Given the description of an element on the screen output the (x, y) to click on. 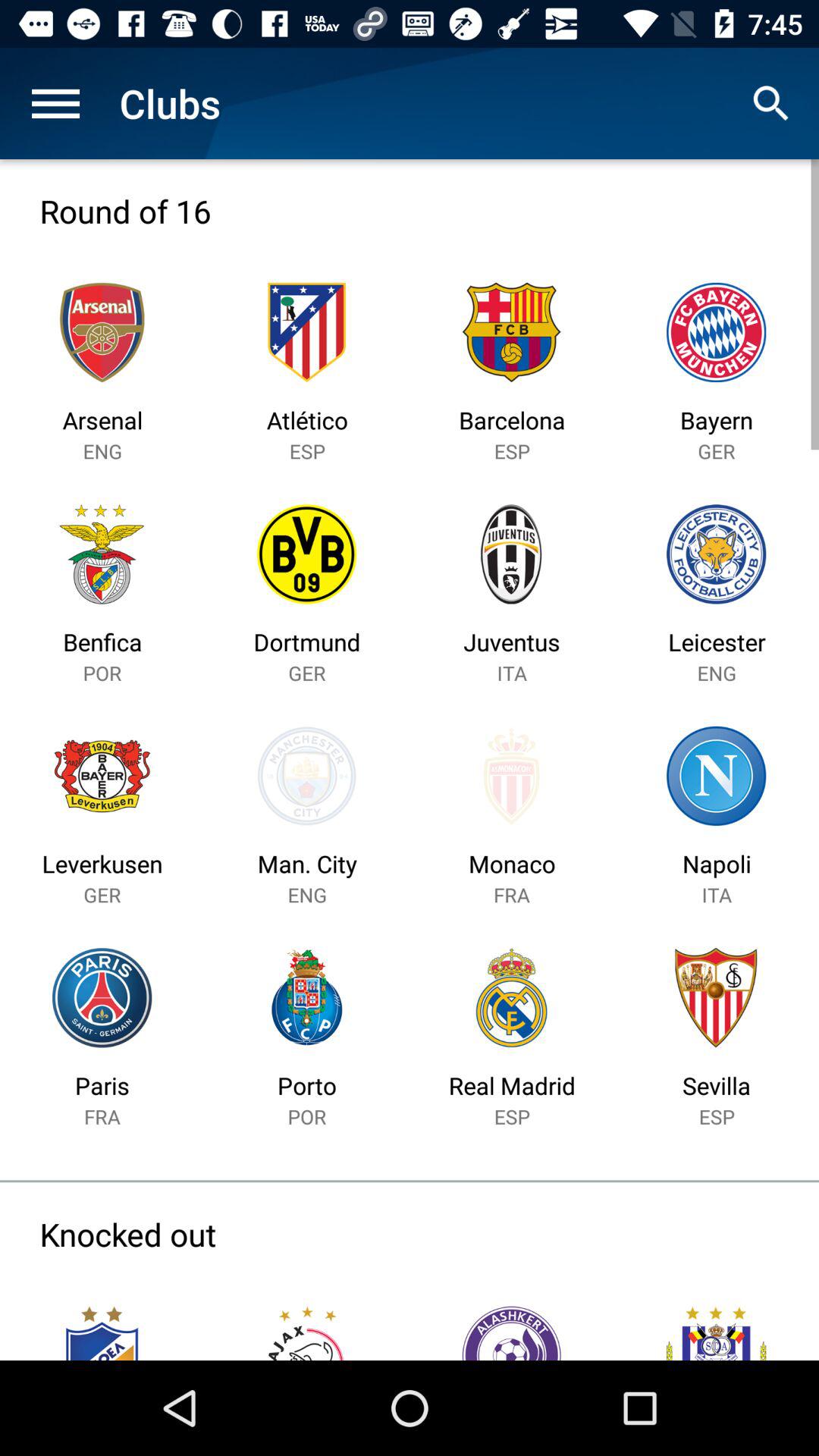
view more sections (55, 103)
